Given the description of an element on the screen output the (x, y) to click on. 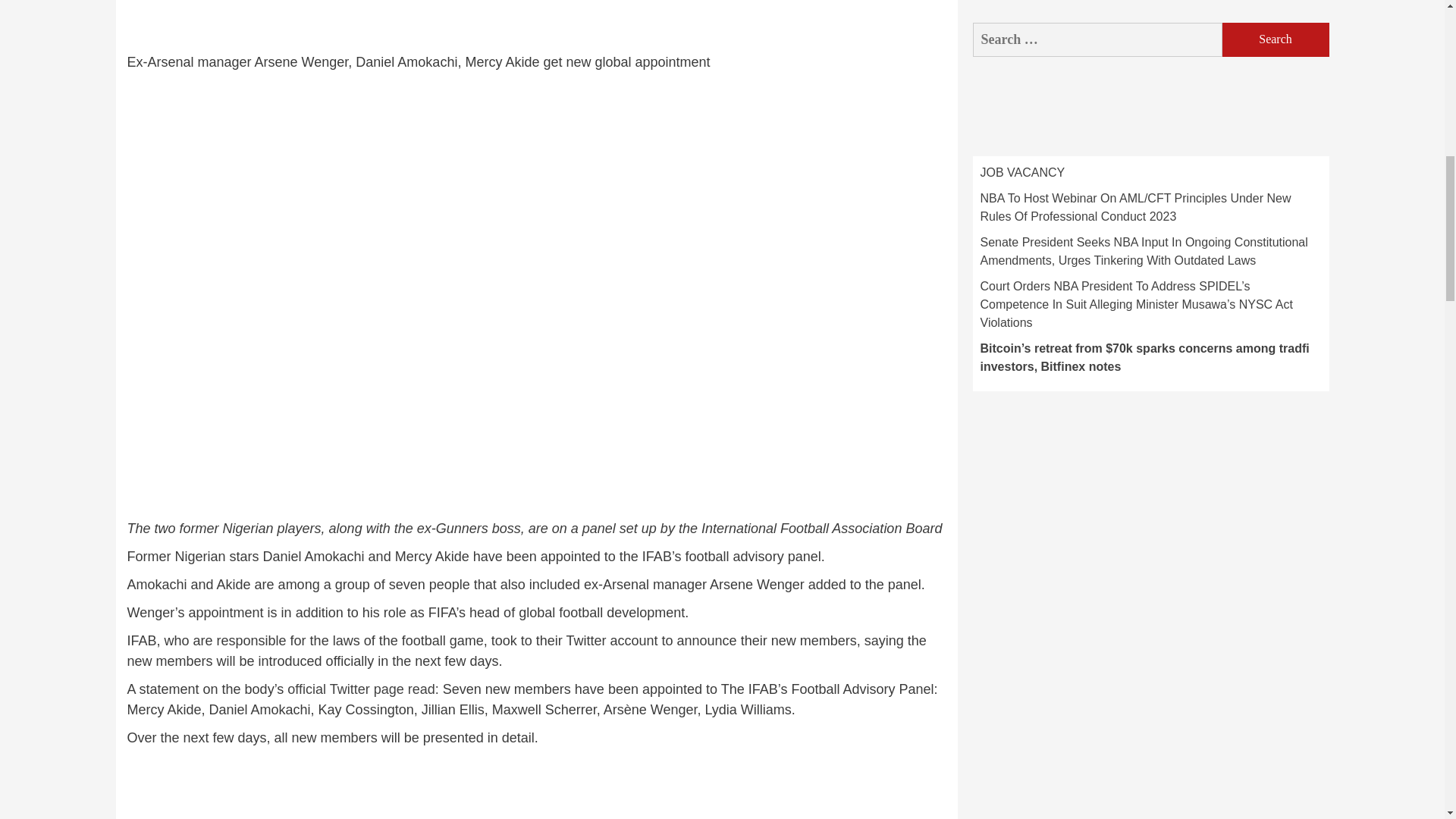
official Twitter page read (359, 688)
